Given the description of an element on the screen output the (x, y) to click on. 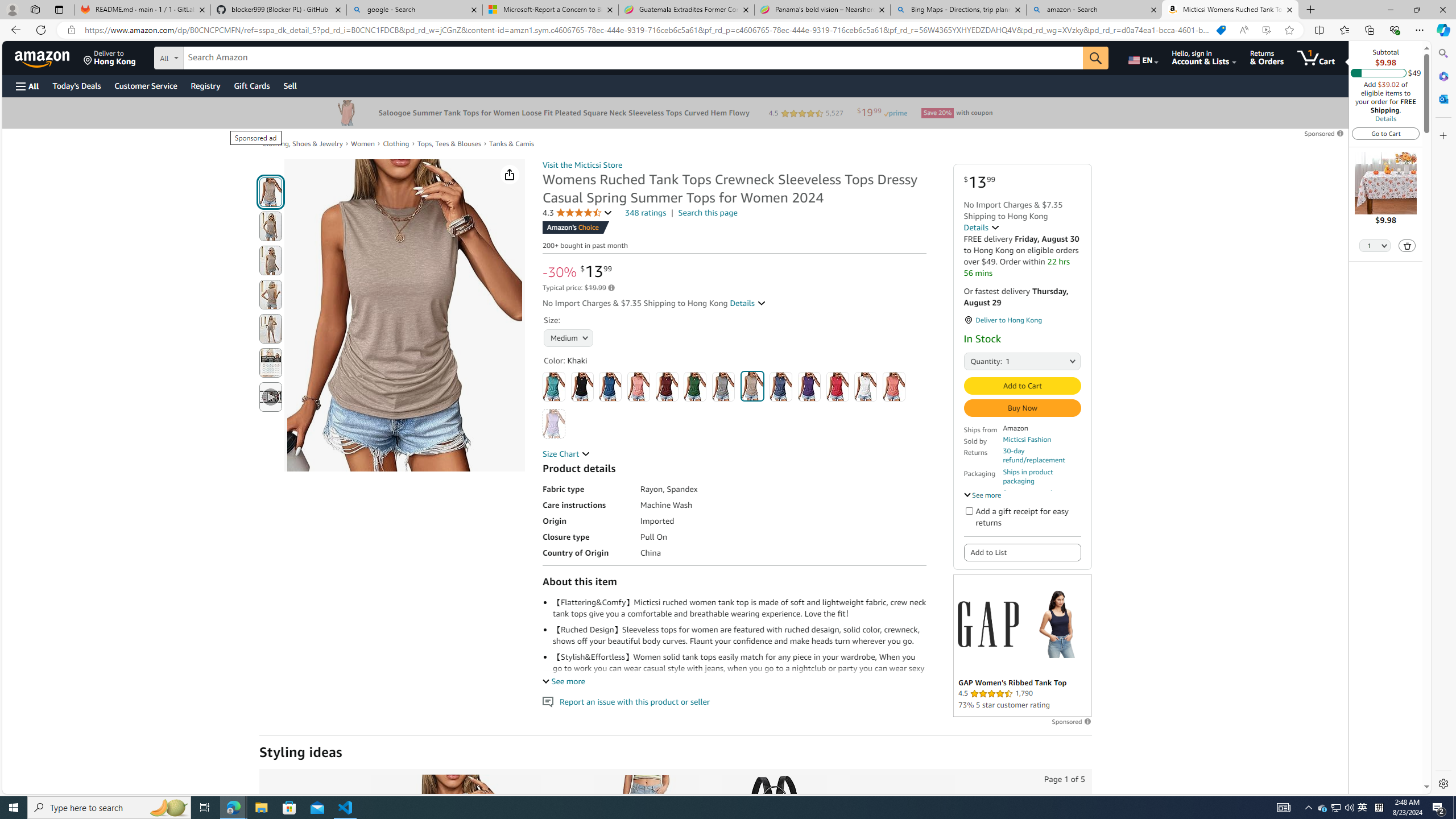
Light Purple (553, 423)
Choose a language for shopping. (1142, 57)
Prime (895, 113)
348 ratings (645, 212)
Ships in product packaging (1042, 476)
Logo (987, 623)
Add to List (1021, 552)
Buy Now (1021, 407)
Secure transaction (1032, 492)
